Given the description of an element on the screen output the (x, y) to click on. 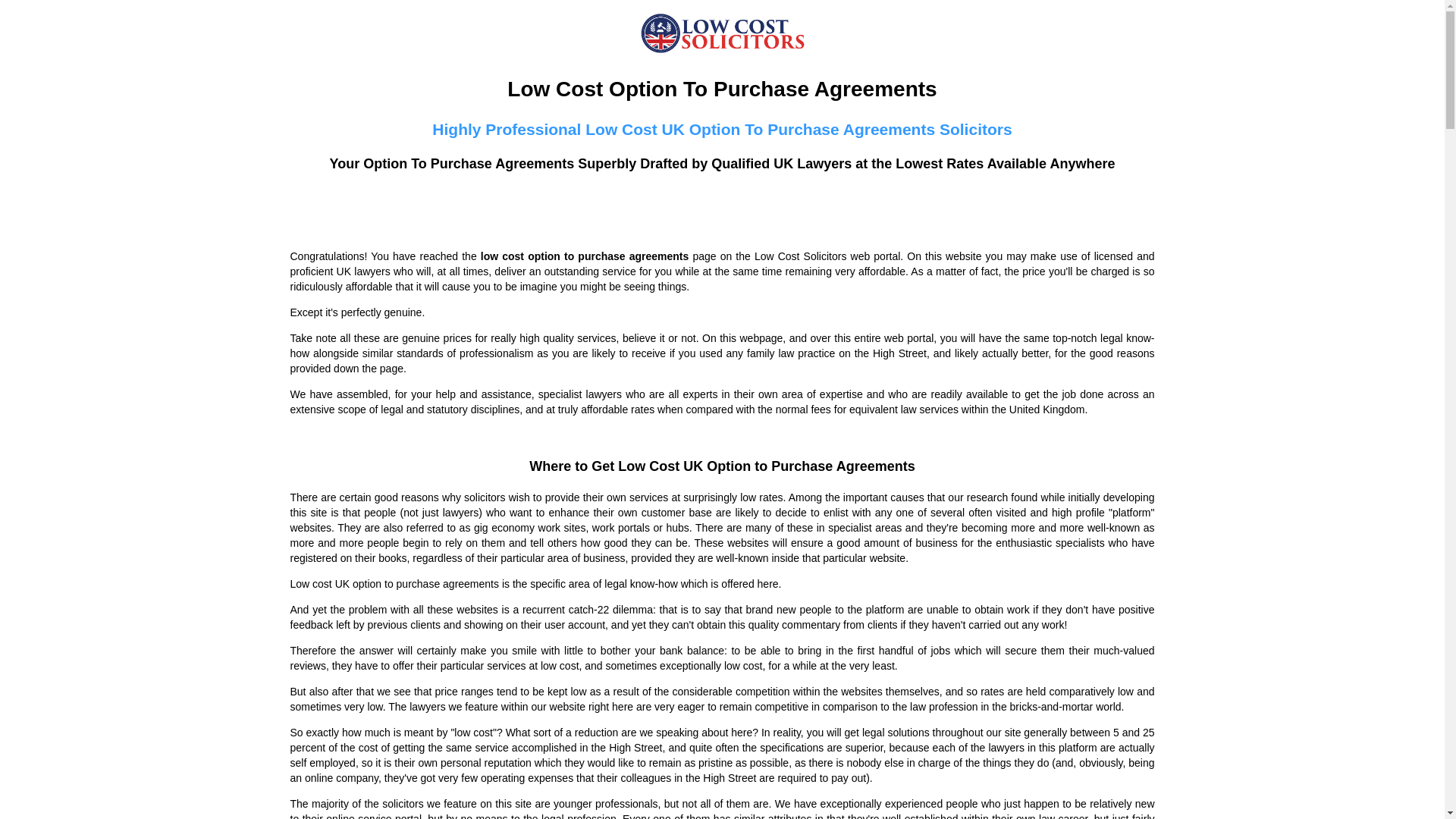
Low Cost Solicitors (722, 33)
